Given the description of an element on the screen output the (x, y) to click on. 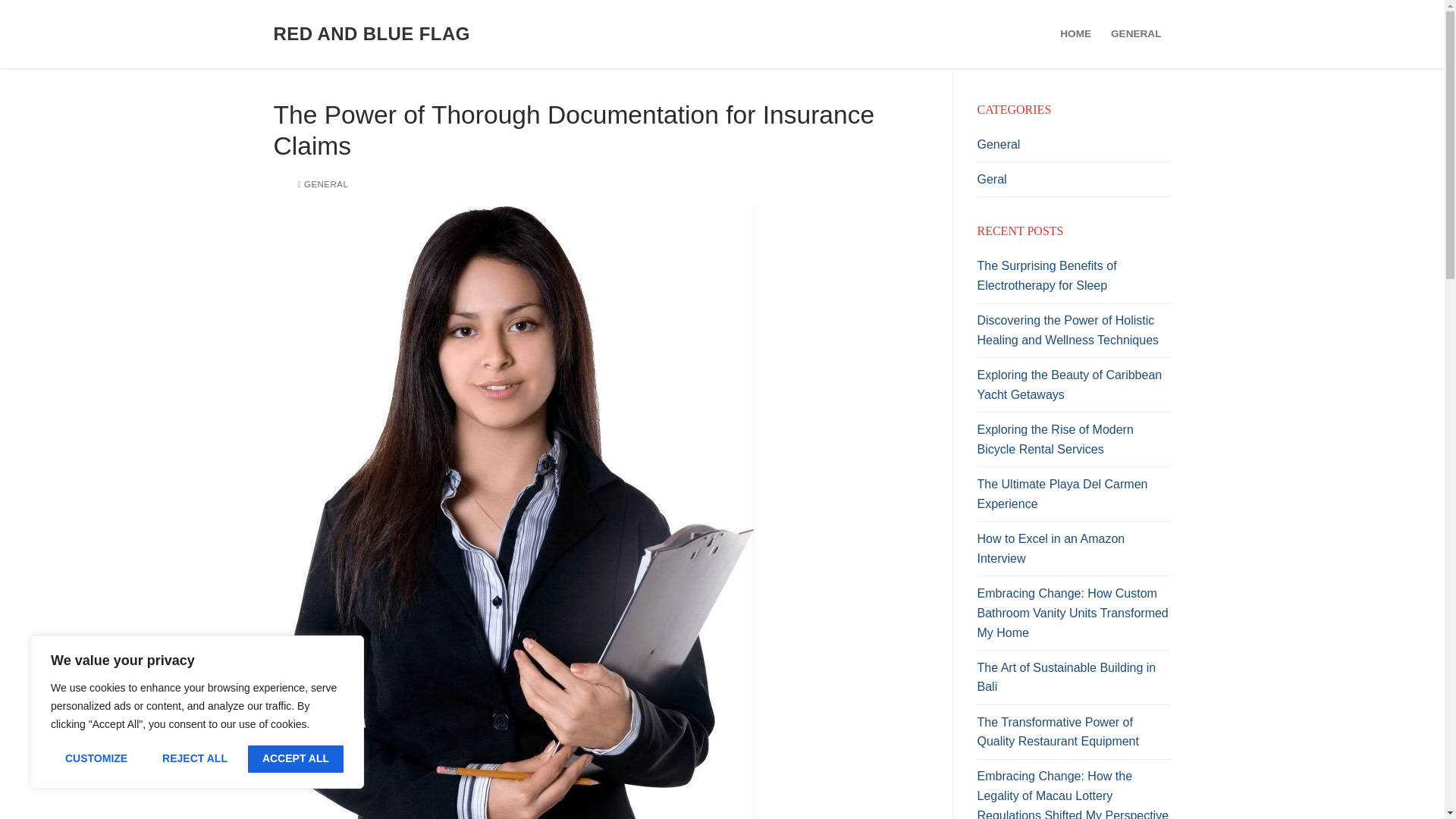
ACCEPT ALL (295, 759)
GENERAL (322, 184)
CUSTOMIZE (95, 759)
RED AND BLUE FLAG (370, 33)
The Surprising Benefits of Electrotherapy for Sleep (1073, 279)
The Ultimate Playa Del Carmen Experience (1073, 498)
REJECT ALL (194, 759)
Geral (1073, 183)
GENERAL (1135, 33)
Exploring the Beauty of Caribbean Yacht Getaways (1073, 388)
How to Excel in an Amazon Interview (1073, 552)
General (1073, 148)
Exploring the Rise of Modern Bicycle Rental Services (1073, 443)
